Given the description of an element on the screen output the (x, y) to click on. 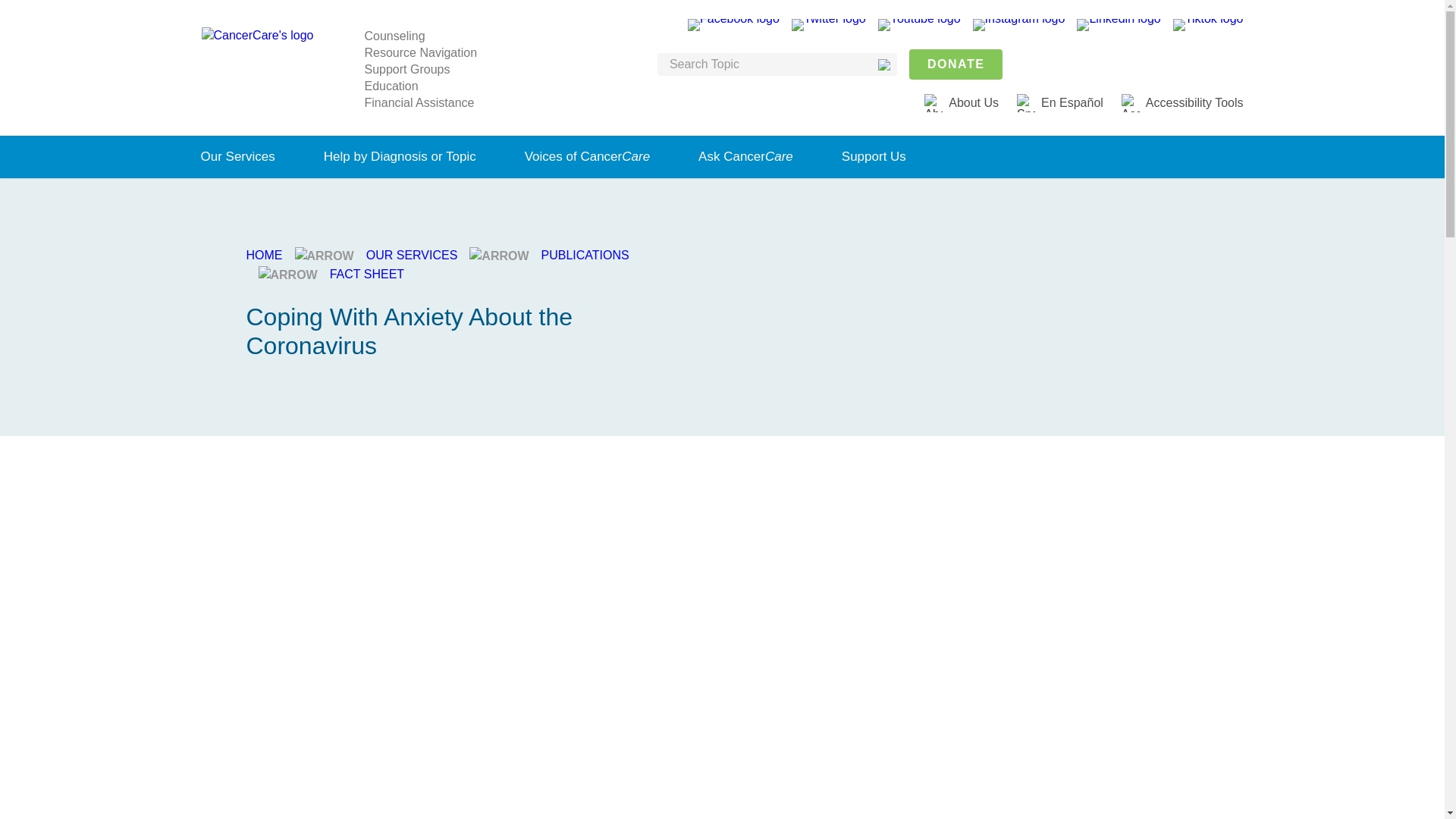
Facebook (732, 24)
Support Groups (406, 68)
Tap or click here to open our Twitter page in a new window (829, 24)
Resource Navigation (420, 51)
YouTube (918, 24)
Help by Diagnosis or Topic (399, 156)
About Us (973, 102)
Tap or click here to open our YouTube page in a new window (918, 24)
Tap or click here to open our Tiktok page in a new window (1208, 24)
Tap or click here to open our LinkedIn page in a new window (1118, 24)
